Given the description of an element on the screen output the (x, y) to click on. 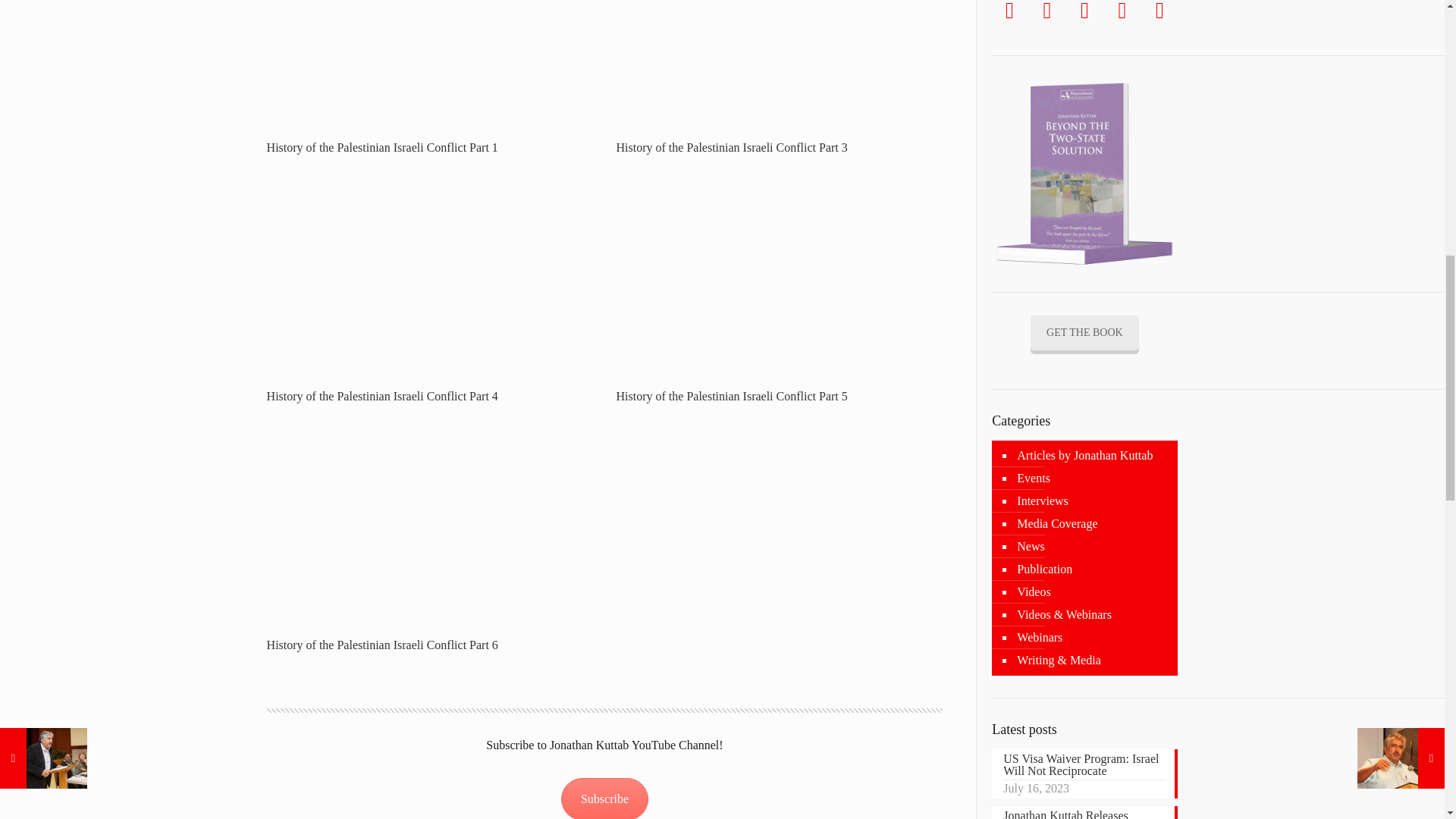
History of the Palestinian Israeli Conflict   Part 5 (778, 271)
History of the Palestinian Israeli Conflict   Part 6 (430, 520)
History of the Palestinian Israeli Conflict   Part 3 (778, 57)
History of the Palestinian Israeli Conflict   Part 1 (430, 57)
History of the Palestinian Israeli Conflict   Part 4 (430, 271)
